Given the description of an element on the screen output the (x, y) to click on. 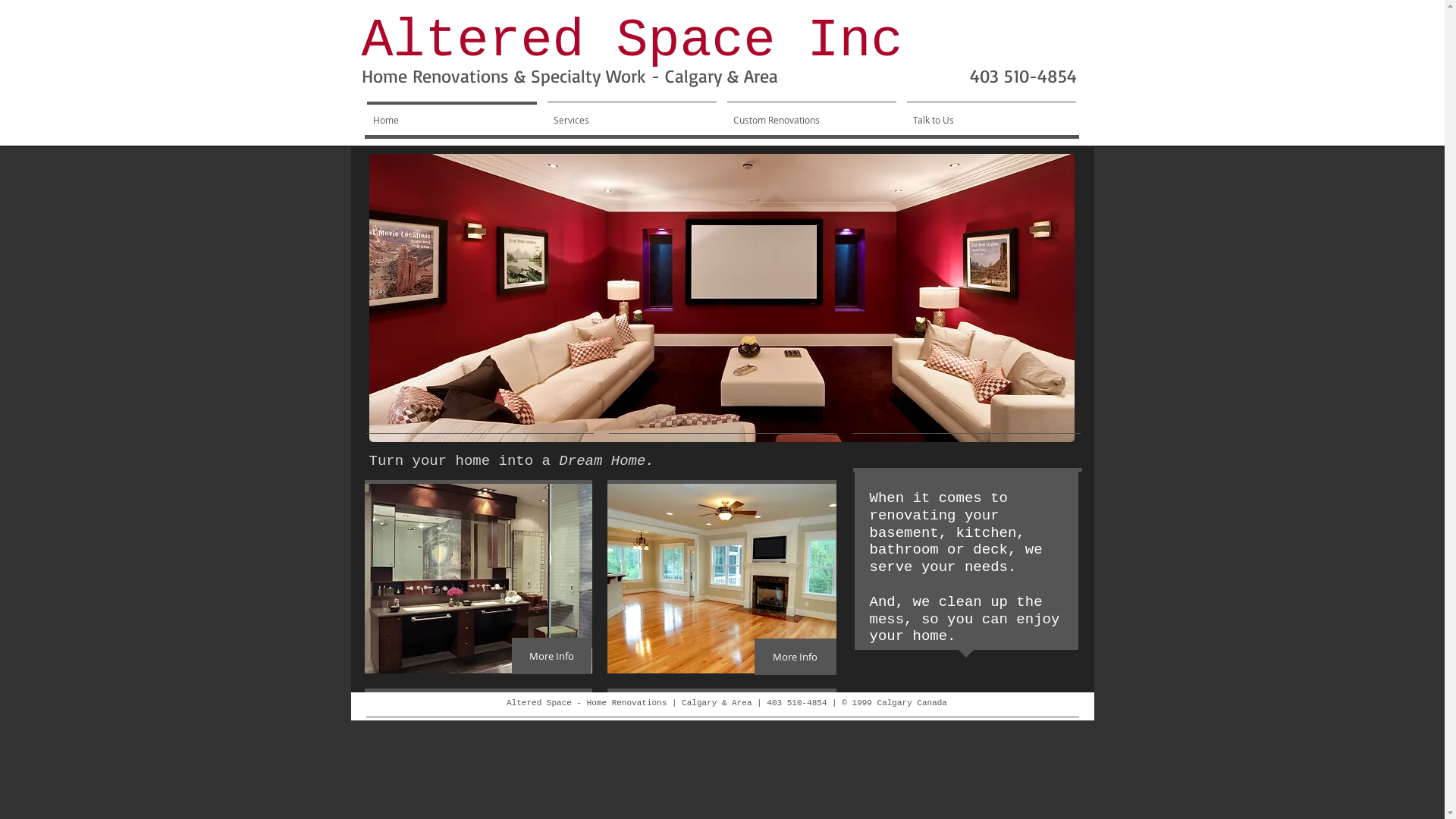
More Info Element type: text (794, 656)
More Info Element type: text (550, 655)
Home Element type: text (450, 112)
Talk to Us Element type: text (990, 112)
Custom Renovations Element type: text (811, 112)
Services Element type: text (631, 112)
